Given the description of an element on the screen output the (x, y) to click on. 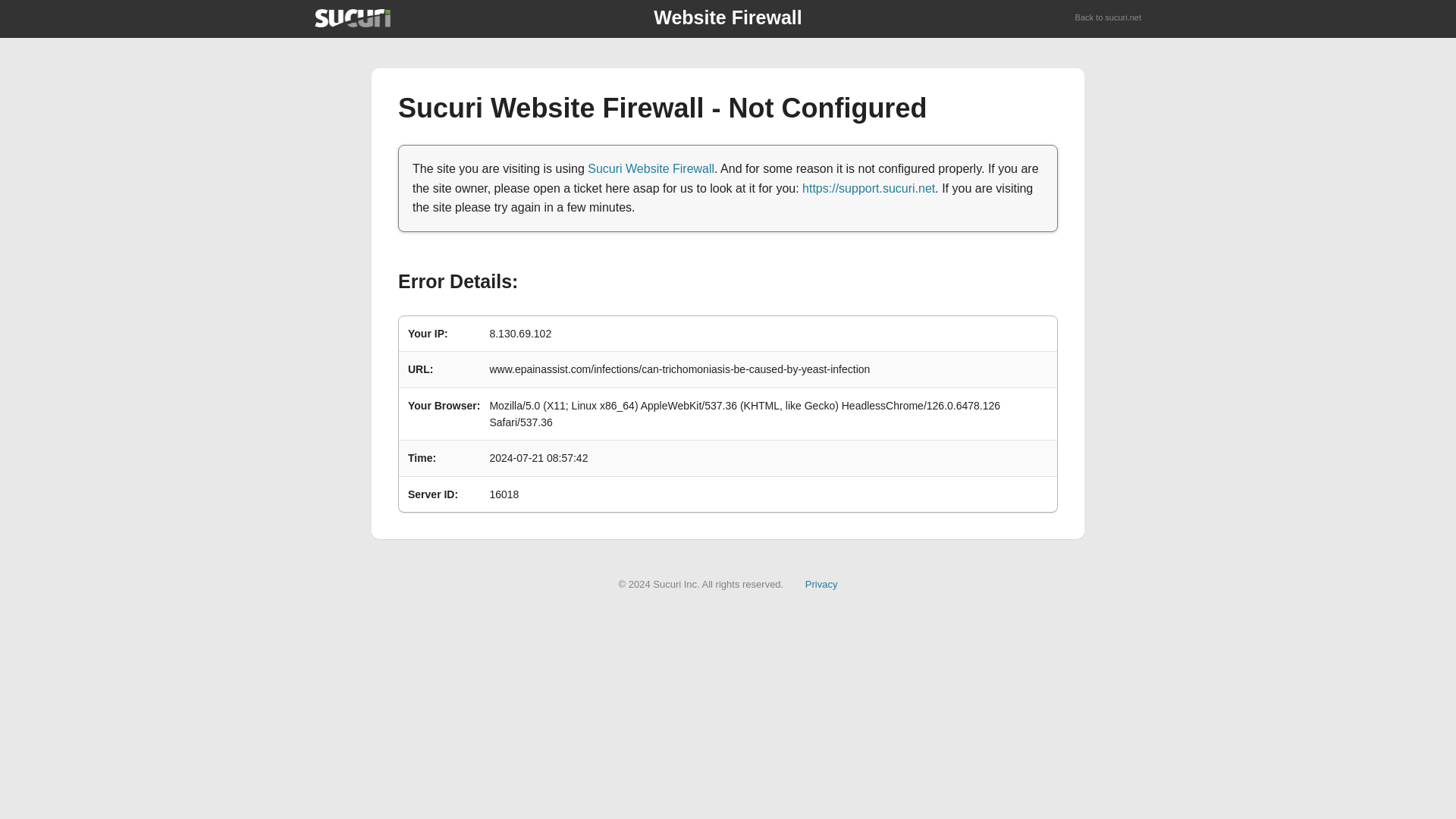
Back to sucuri.net (1108, 18)
Privacy (821, 583)
Sucuri Website Firewall (651, 168)
